Given the description of an element on the screen output the (x, y) to click on. 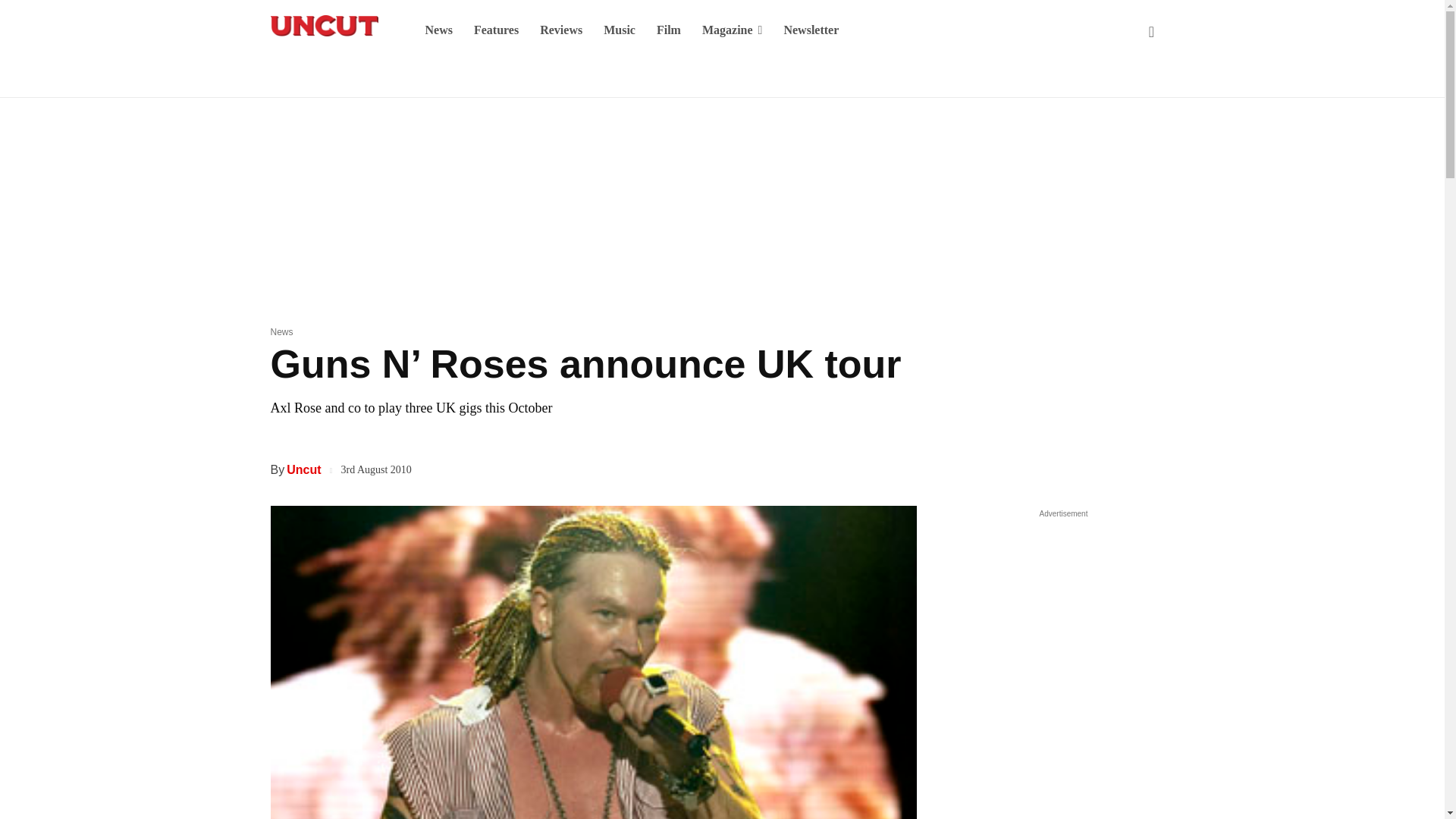
Features (496, 30)
Magazine (732, 30)
Reviews (560, 30)
Newsletter (810, 30)
Uncut Logo (323, 25)
View all posts in News (280, 331)
